Given the description of an element on the screen output the (x, y) to click on. 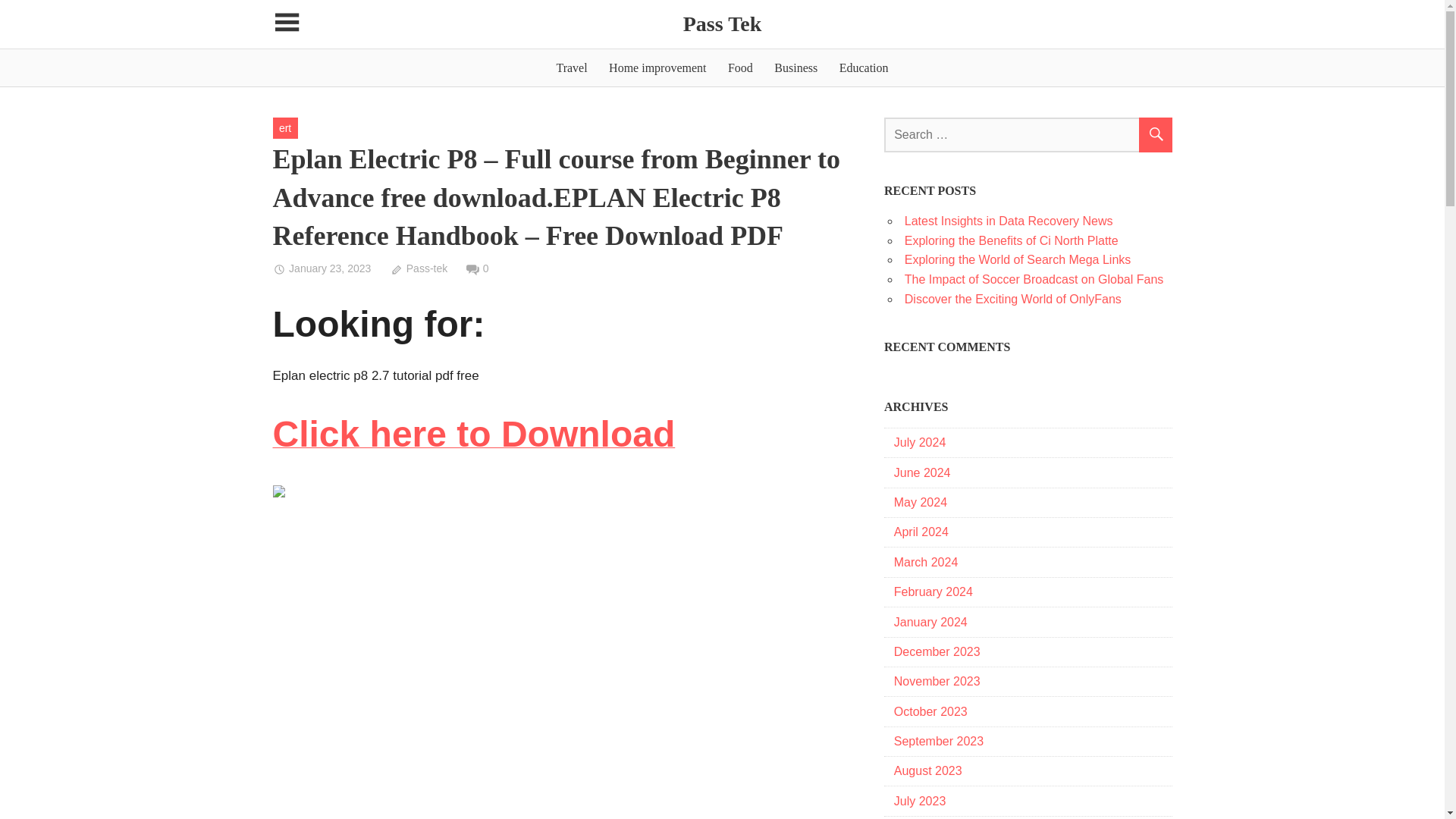
The Impact of Soccer Broadcast on Global Fans (1033, 278)
July 2024 (919, 441)
Travel (571, 67)
4:53 am (322, 268)
June 2024 (921, 472)
Pass-tek (418, 268)
Pass Tek (721, 24)
ert (285, 127)
November 2023 (936, 680)
February 2024 (932, 591)
Discover the Exciting World of OnlyFans (1012, 298)
December 2023 (936, 651)
Business (796, 67)
May 2024 (920, 502)
September 2023 (938, 740)
